Given the description of an element on the screen output the (x, y) to click on. 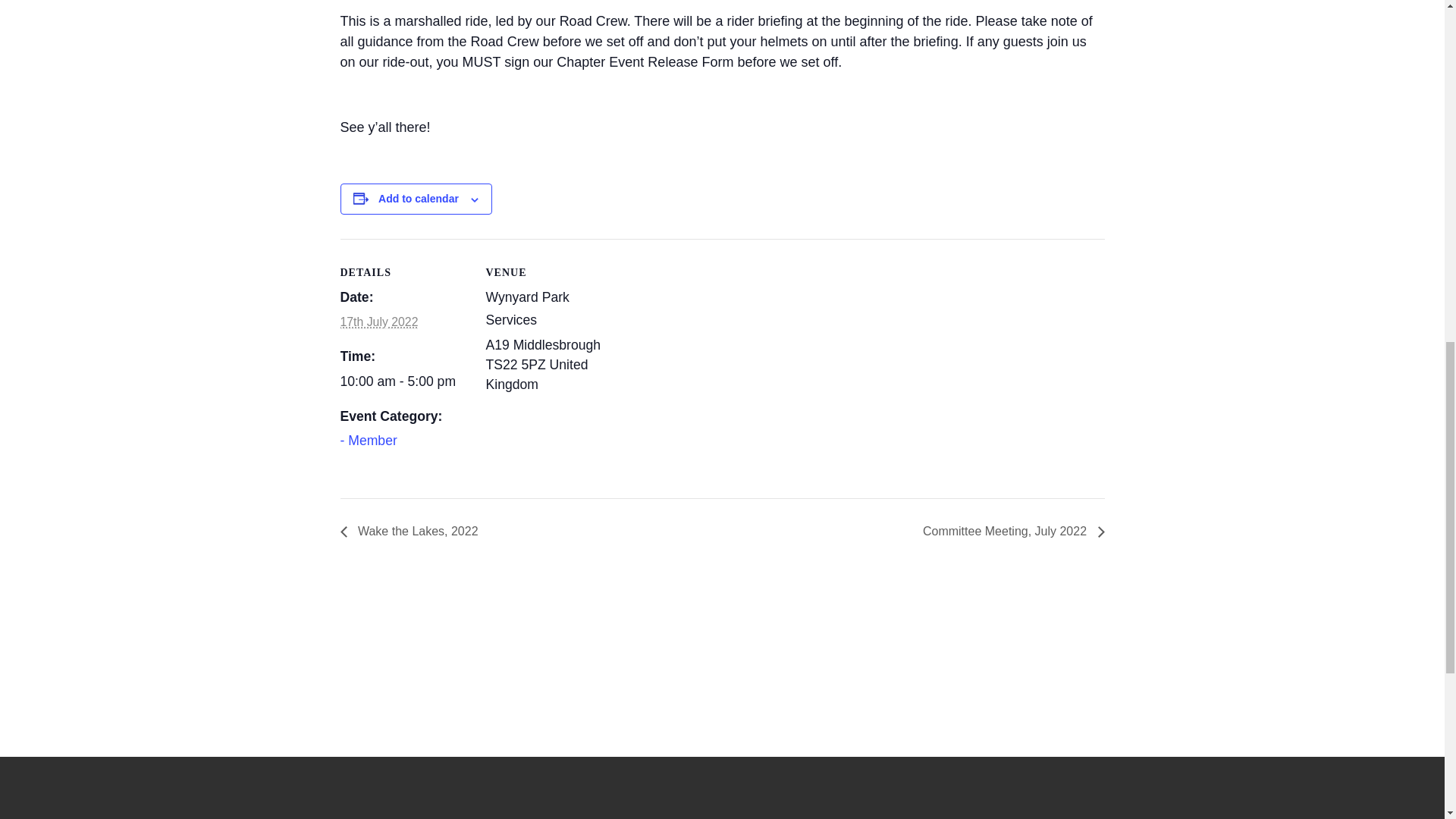
2022-07-17 (403, 382)
2022-07-17 (378, 322)
